Given the description of an element on the screen output the (x, y) to click on. 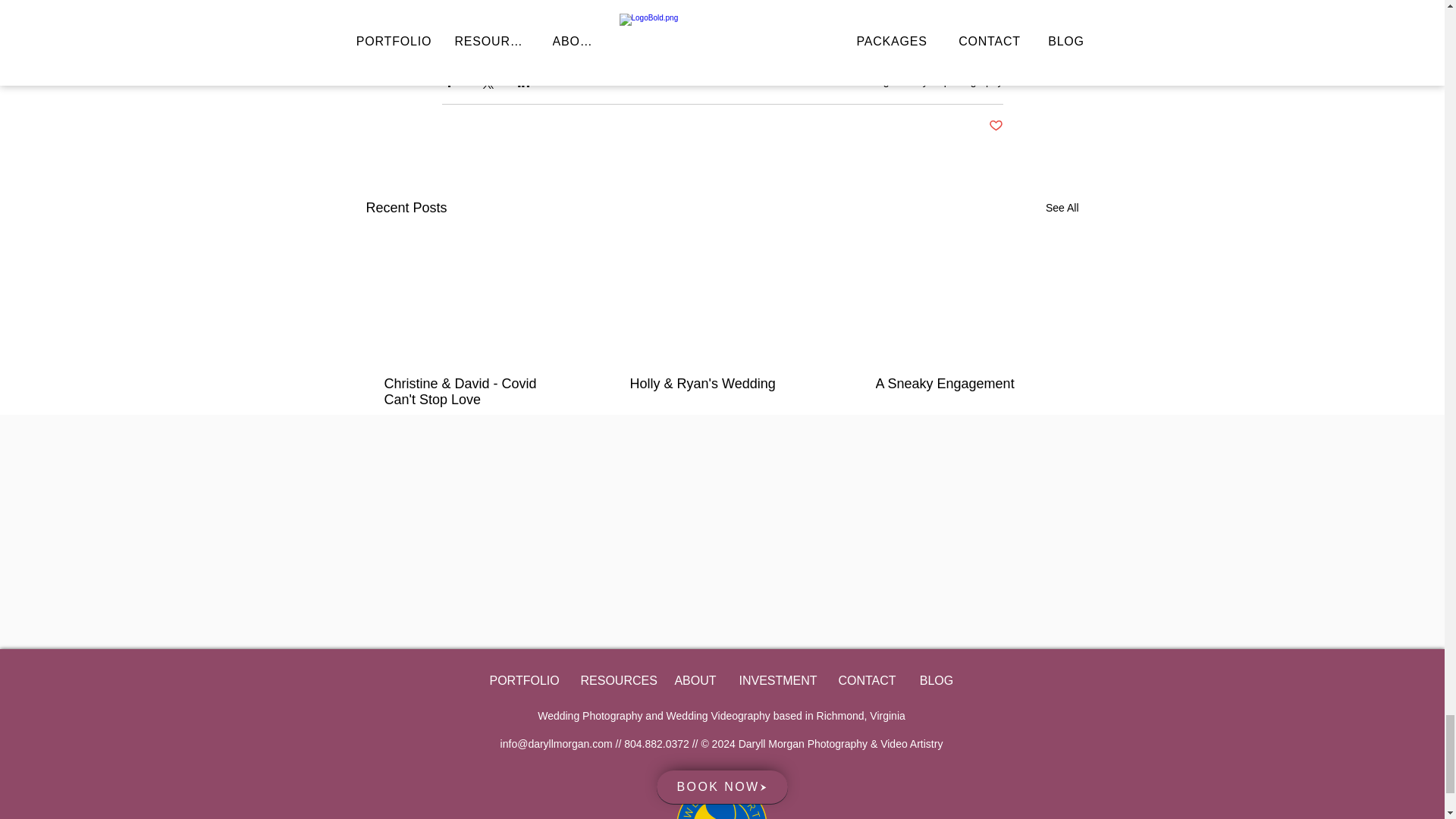
INVESTMENT (776, 680)
See All (1061, 208)
Post not marked as liked (995, 125)
Post not marked as liked (882, 445)
ABOUT (695, 680)
A Sneaky Engagement (966, 383)
wedding (868, 80)
here (839, 10)
Post not marked as liked (635, 445)
Post not marked as liked (390, 445)
